Given the description of an element on the screen output the (x, y) to click on. 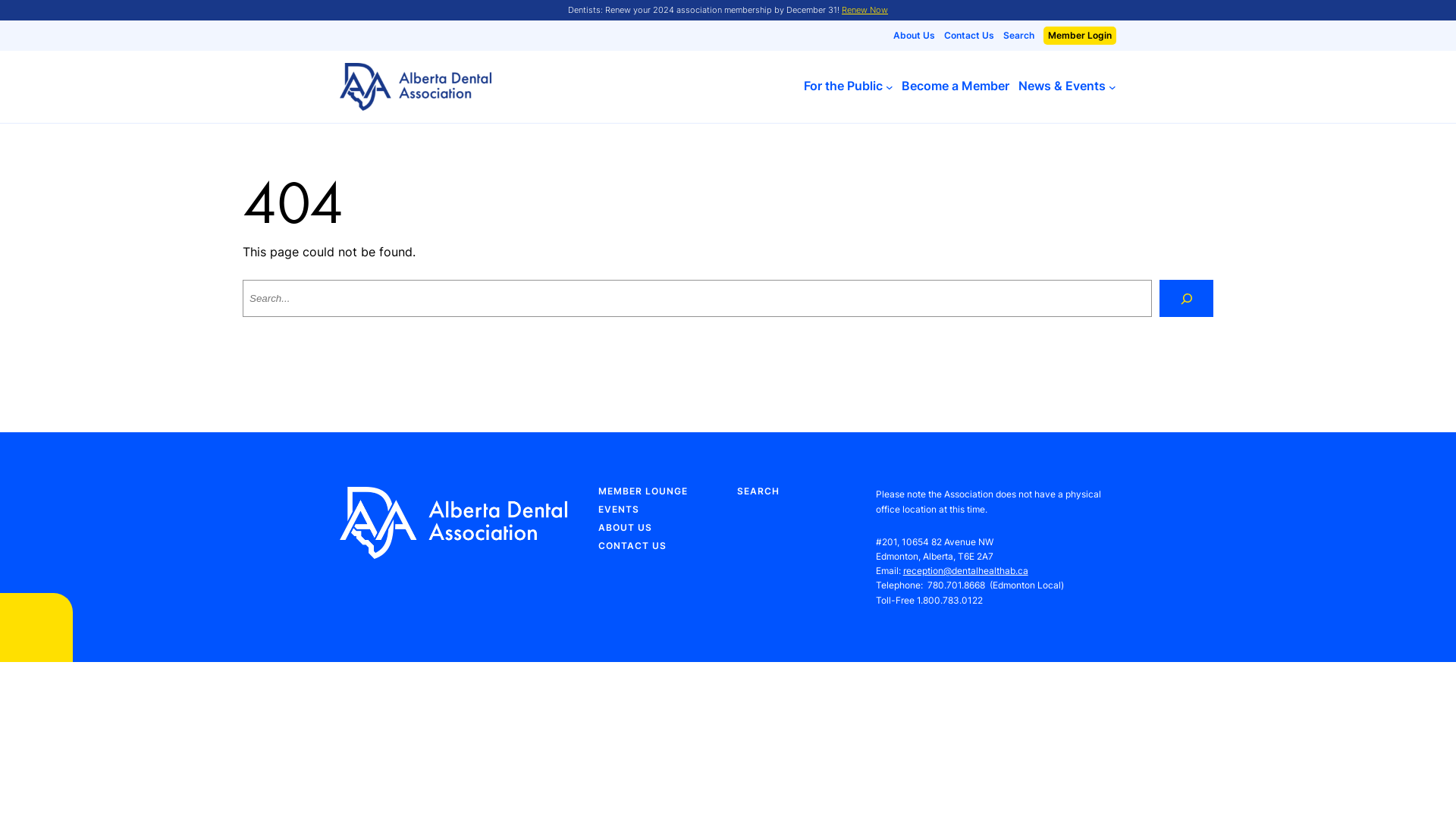
ABOUT US Element type: text (625, 527)
reception@dentalhealthab.ca Element type: text (965, 570)
Contact Us Element type: text (969, 35)
Member Login Element type: text (1079, 35)
News & Events Element type: text (1061, 86)
CONTACT US Element type: text (632, 545)
SEARCH Element type: text (758, 490)
Renew Now Element type: text (864, 9)
For the Public Element type: text (842, 86)
Search Element type: text (1018, 35)
MEMBER LOUNGE Element type: text (642, 490)
About Us Element type: text (914, 35)
Become a Member Element type: text (955, 86)
EVENTS Element type: text (618, 509)
